Given the description of an element on the screen output the (x, y) to click on. 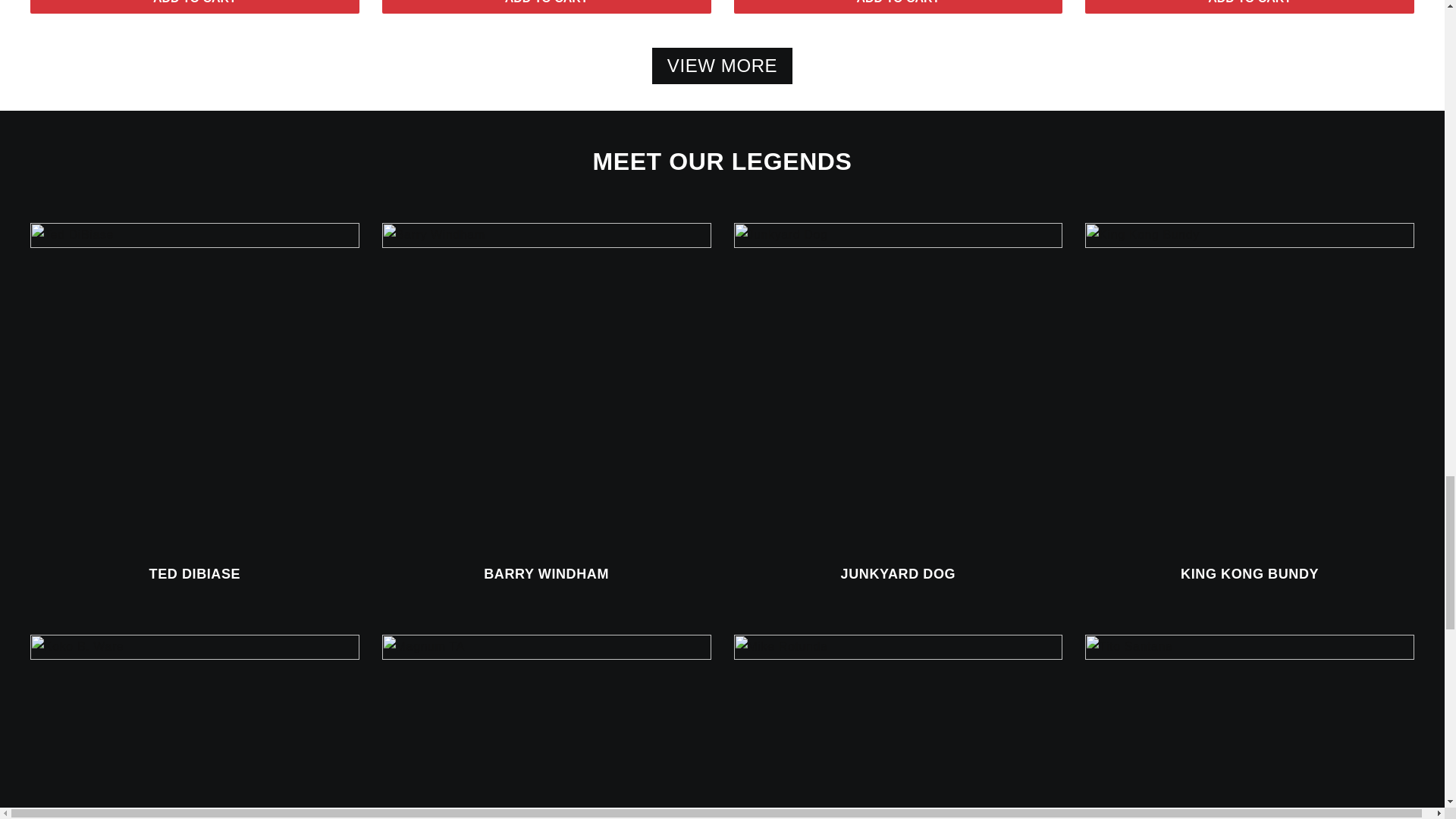
Ted DiBiase (194, 387)
Koko B. Ware (194, 726)
Mike Rotunda (897, 726)
Barry Windham (546, 387)
King Kong Bundy (1248, 387)
Tito Santana (1248, 726)
Magnum TA (546, 726)
Junkyard Dog (897, 387)
